Given the description of an element on the screen output the (x, y) to click on. 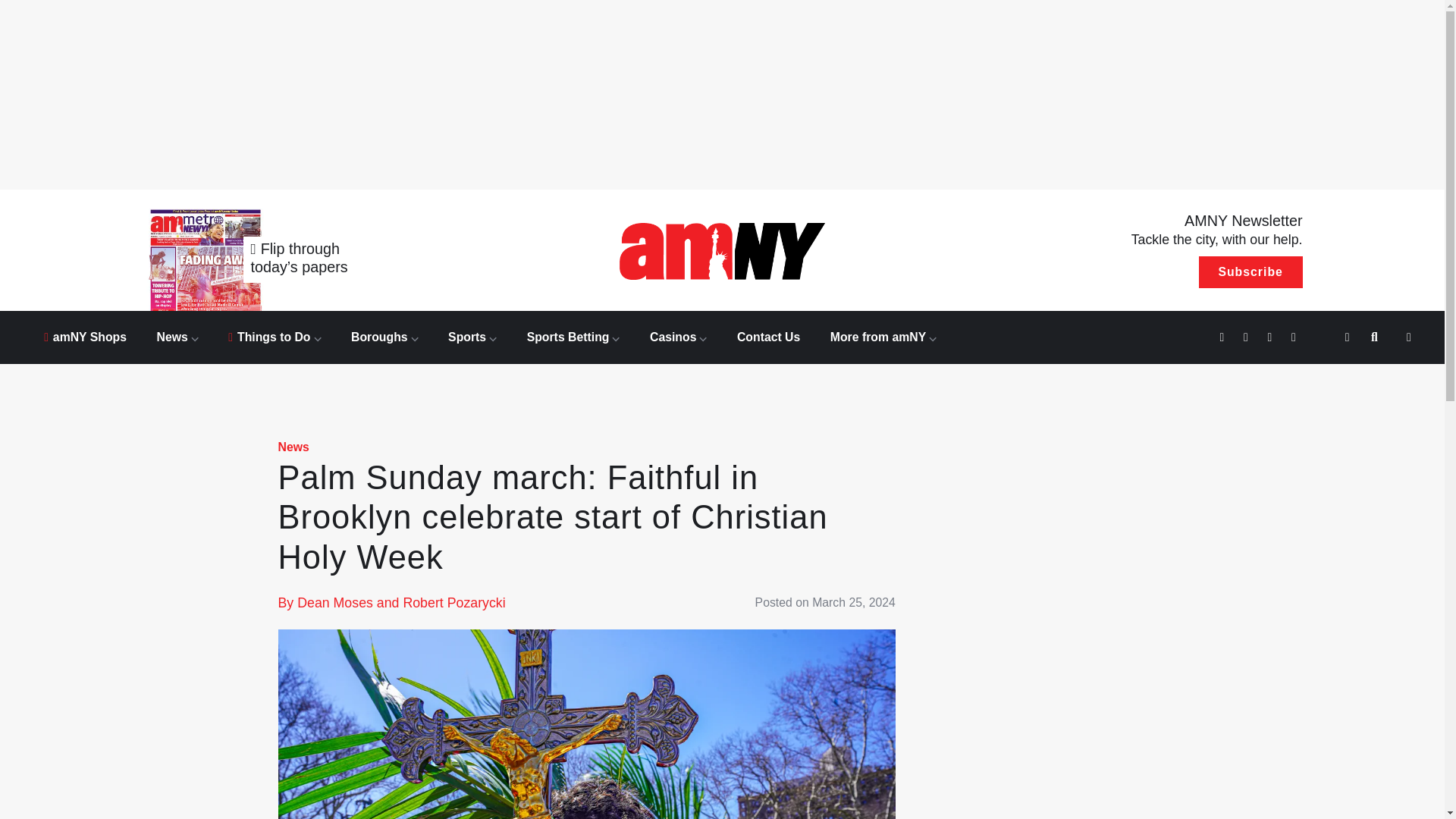
News (176, 336)
Subscribe (1250, 272)
amNY Shops (84, 336)
Things to Do (274, 336)
Sports (472, 336)
Boroughs (384, 336)
